Given the description of an element on the screen output the (x, y) to click on. 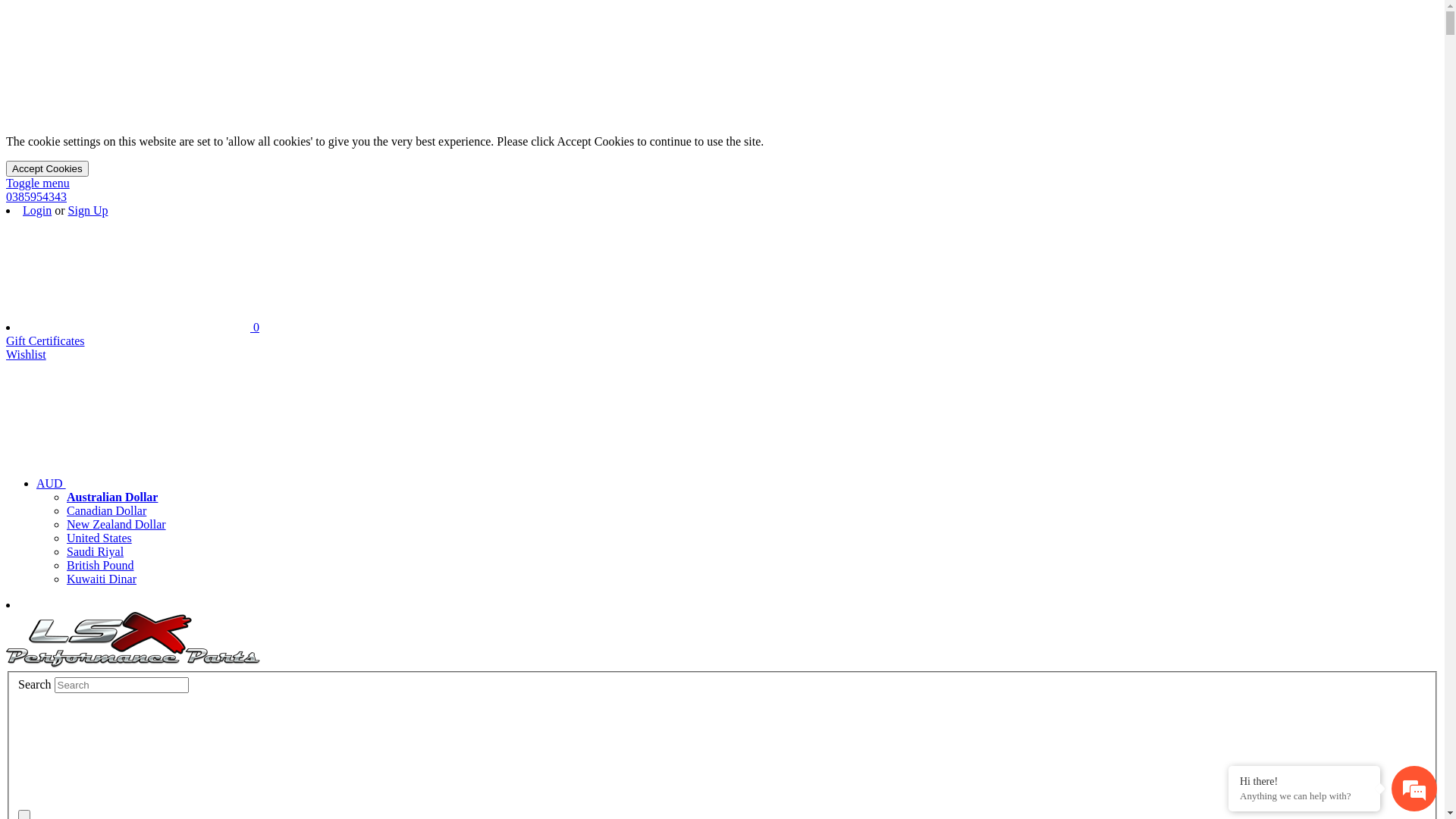
LSX Performance Parts Element type: hover (133, 639)
0385954343 Element type: text (36, 196)
British Pound Element type: text (99, 564)
Wishlist Element type: text (26, 354)
United States Element type: text (98, 537)
Saudi Riyal Element type: text (94, 551)
Toggle menu Element type: text (37, 182)
0 Element type: text (140, 326)
Accept Cookies Element type: text (47, 168)
AUD Element type: text (164, 482)
Login Element type: text (36, 209)
New Zealand Dollar Element type: text (116, 523)
Canadian Dollar Element type: text (106, 510)
Kuwaiti Dinar Element type: text (101, 578)
Gift Certificates Element type: text (45, 340)
Australian Dollar Element type: text (111, 496)
Sign Up Element type: text (88, 209)
